Given the description of an element on the screen output the (x, y) to click on. 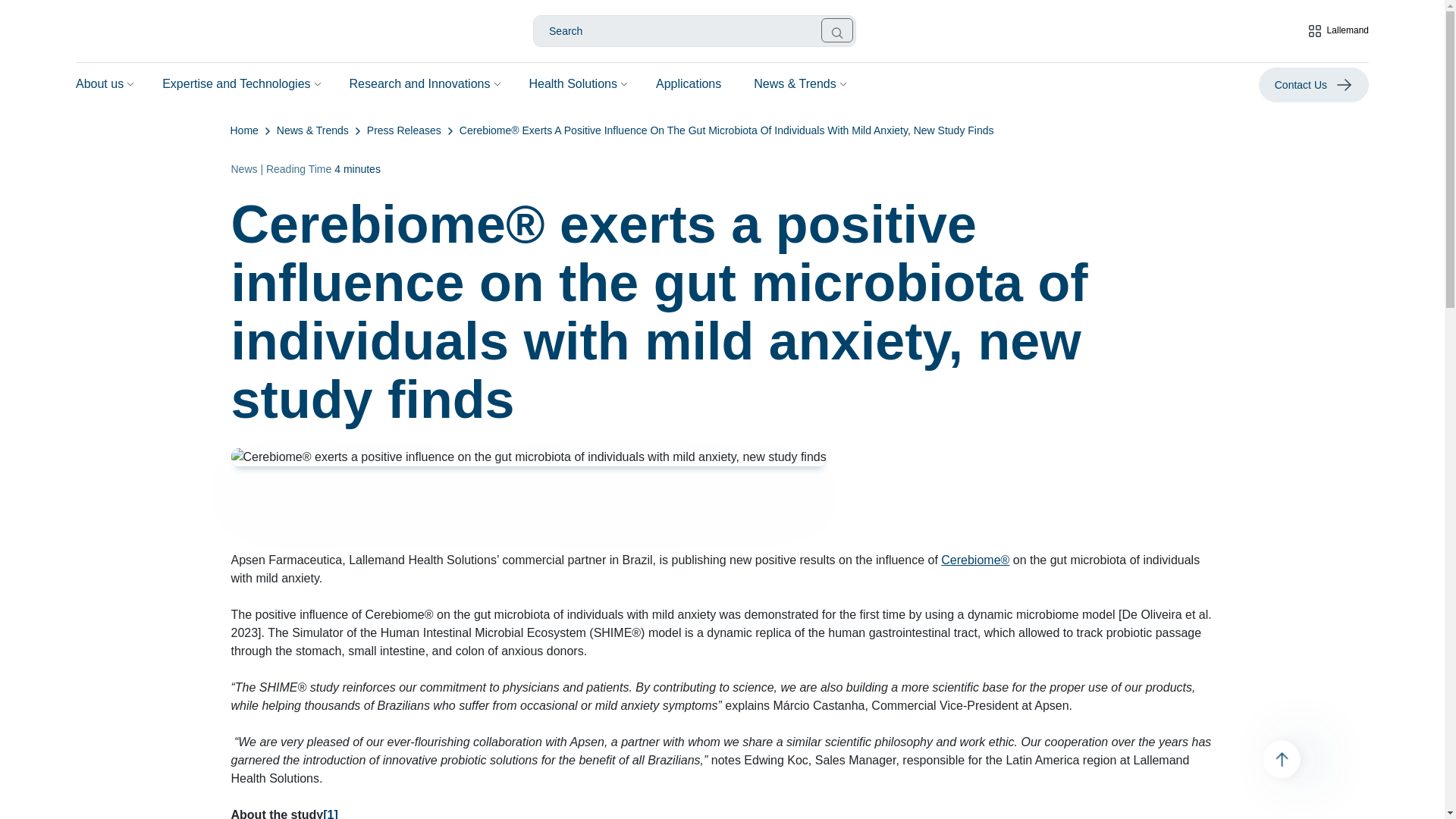
magnify (836, 33)
chevron-small (267, 131)
Expertise and Technologies (235, 84)
Health Solutions (572, 84)
ecosystem-small (1314, 31)
About us (99, 84)
Research and Innovations (419, 84)
arrow (1343, 85)
